Given the description of an element on the screen output the (x, y) to click on. 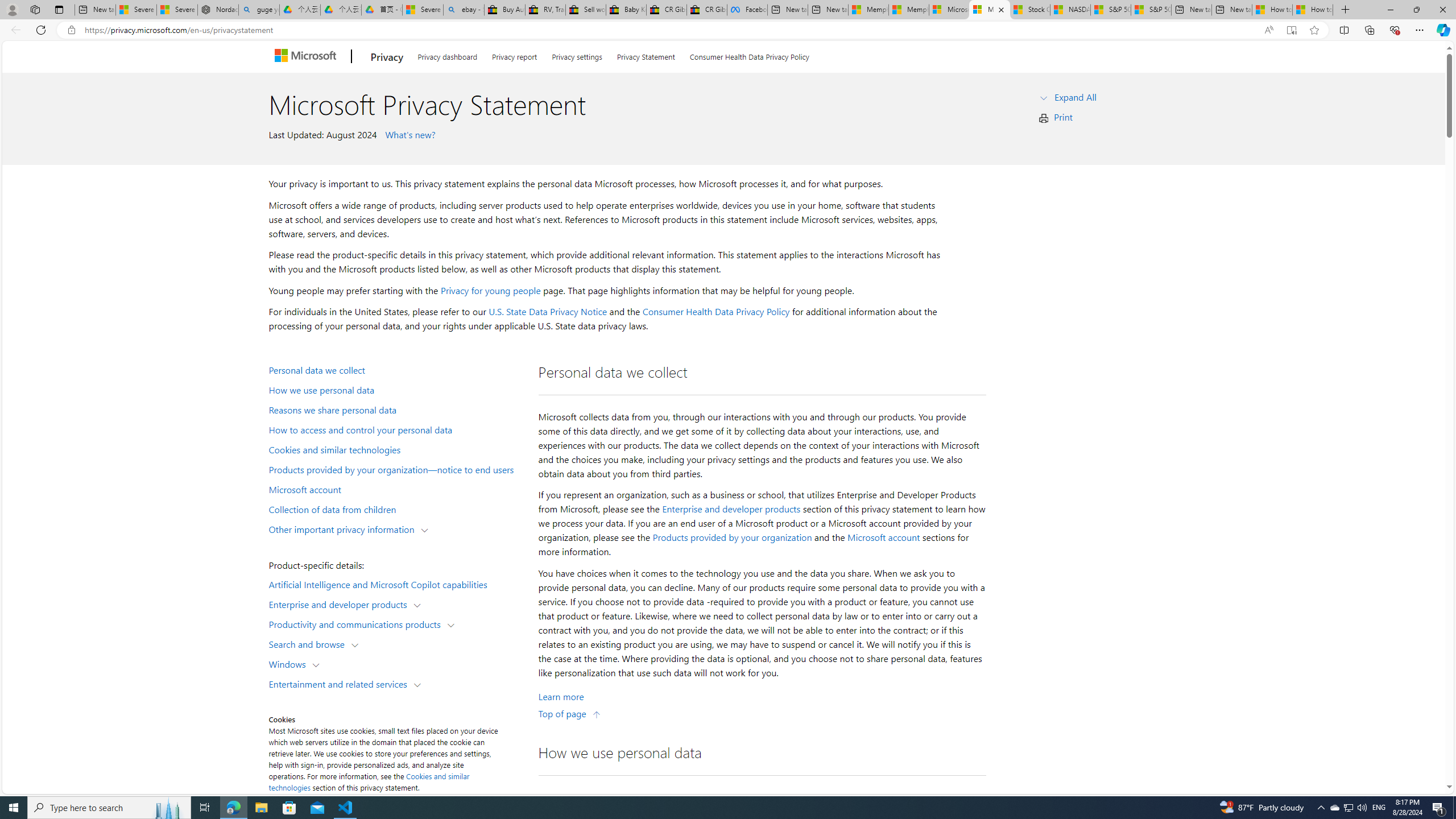
Top of page (569, 713)
Privacy dashboard (447, 54)
Privacy report (514, 54)
Cookies and similar technologies (395, 449)
Search and browse (308, 643)
Privacy settings (576, 54)
